Given the description of an element on the screen output the (x, y) to click on. 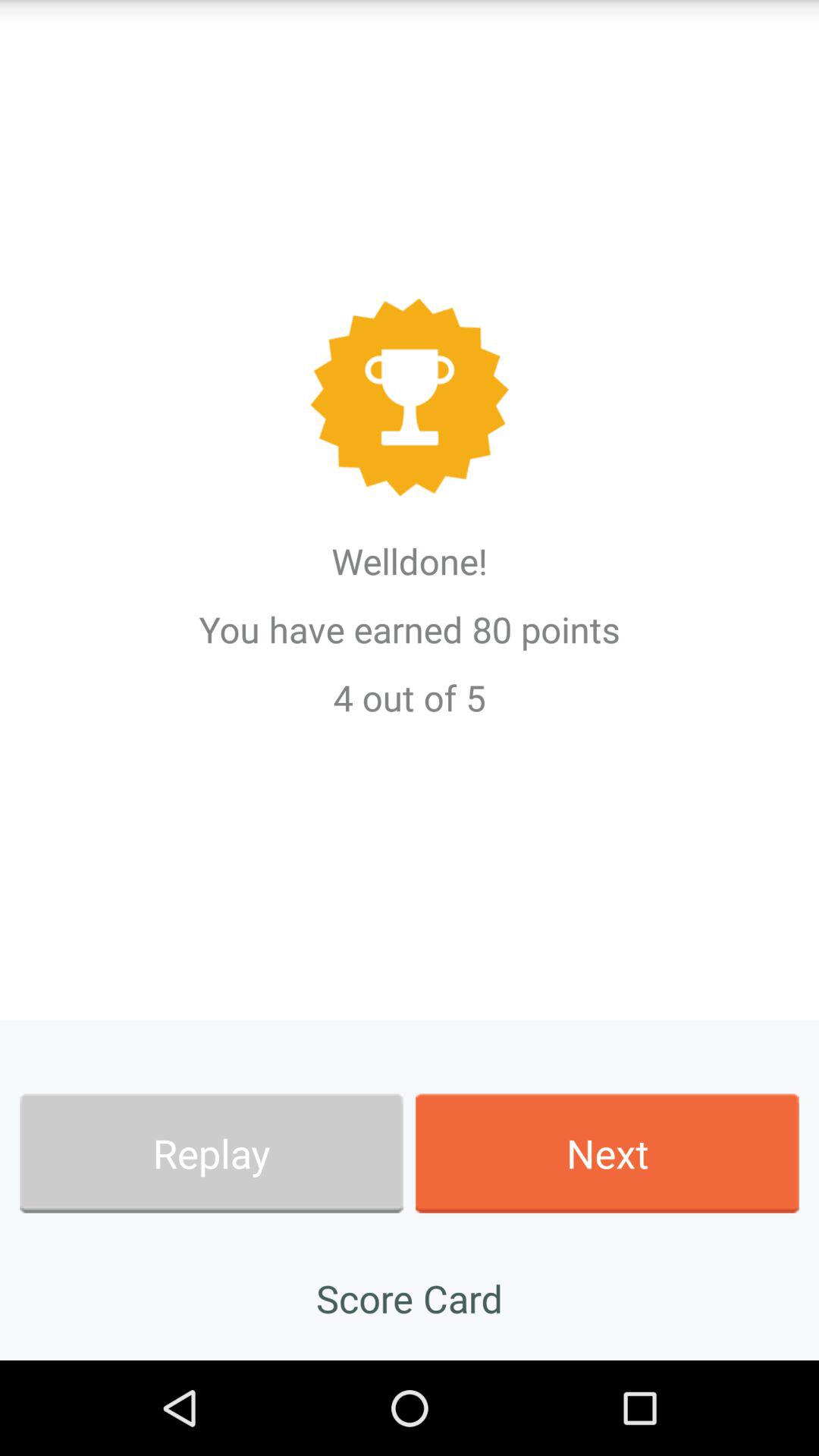
select the app next to the replay (607, 1153)
